Given the description of an element on the screen output the (x, y) to click on. 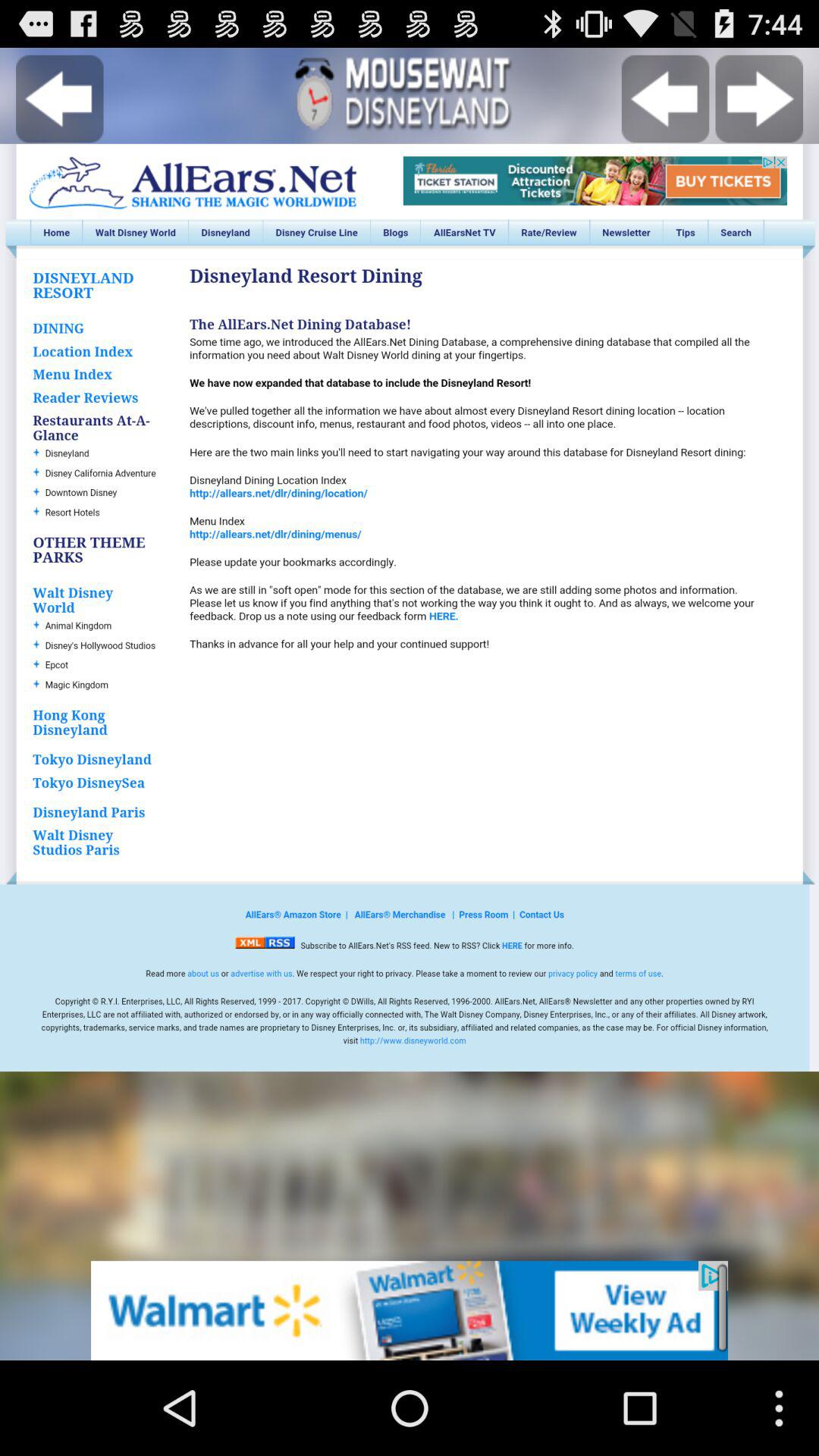
select advertisement (409, 1310)
